Given the description of an element on the screen output the (x, y) to click on. 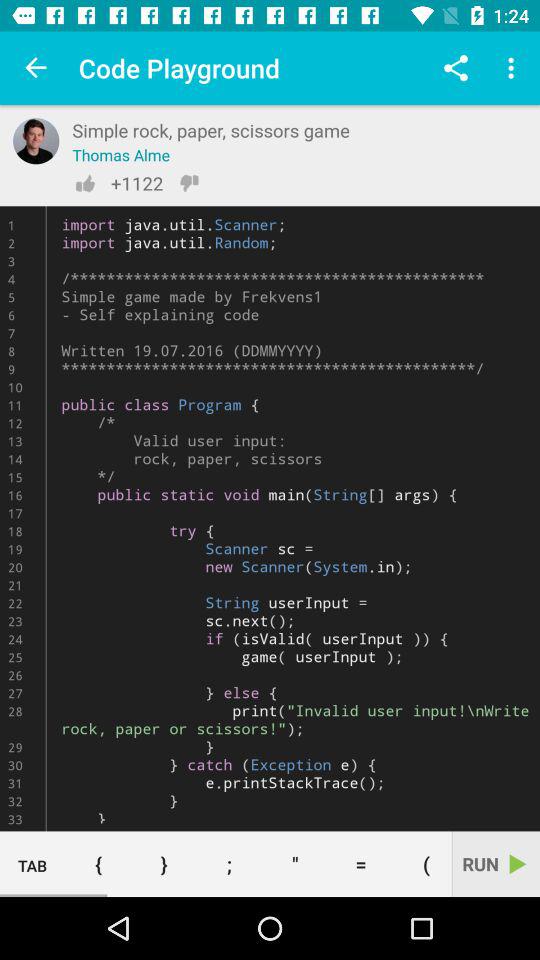
select icon next to run item (422, 863)
